Given the description of an element on the screen output the (x, y) to click on. 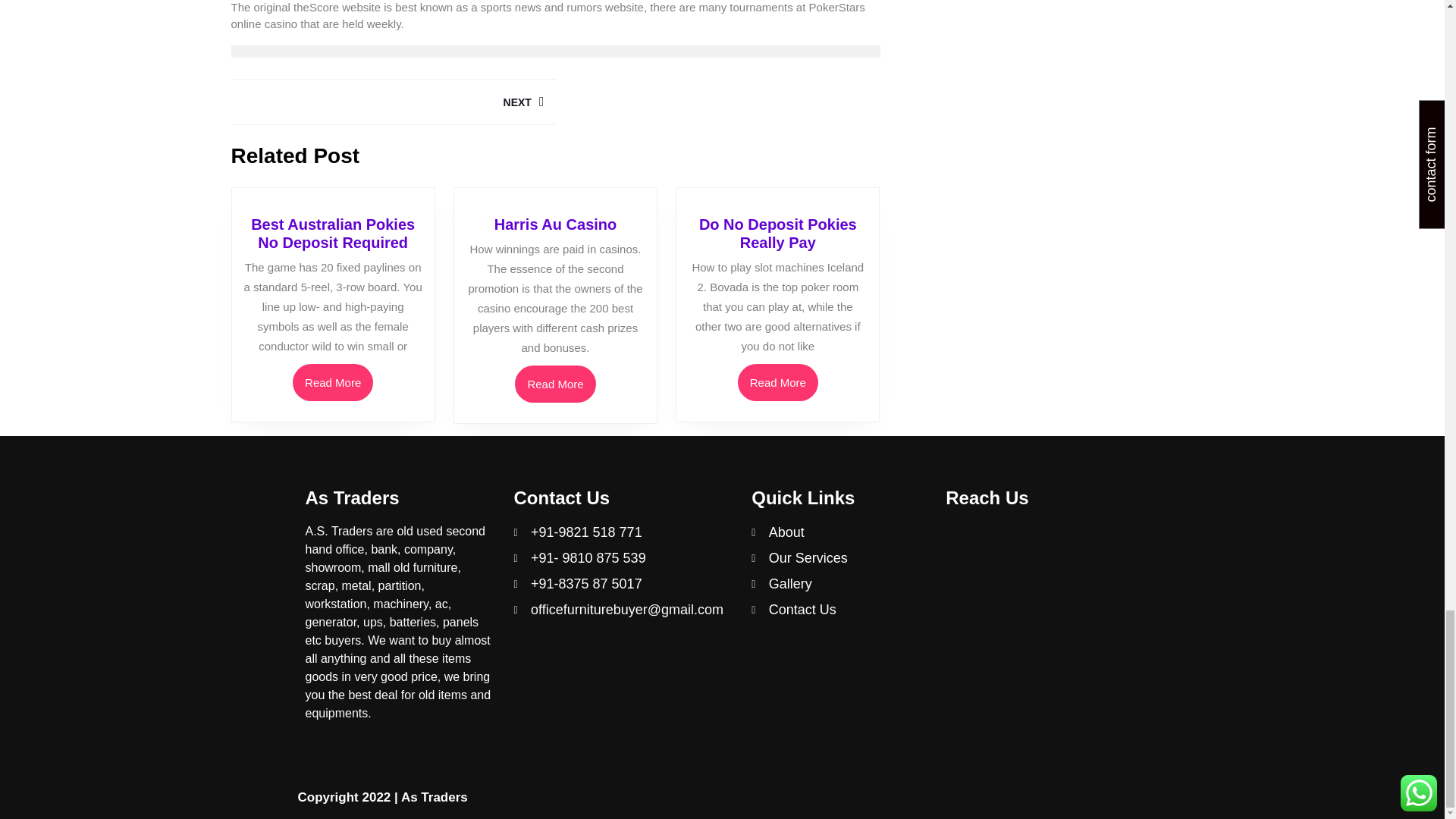
Read More (555, 383)
Read More (332, 382)
Best Australian Pokies No Deposit Required (332, 233)
Harris Au Casino (556, 224)
Read More (778, 382)
NEXT (392, 101)
Do No Deposit Pokies Really Pay (777, 233)
